Given the description of an element on the screen output the (x, y) to click on. 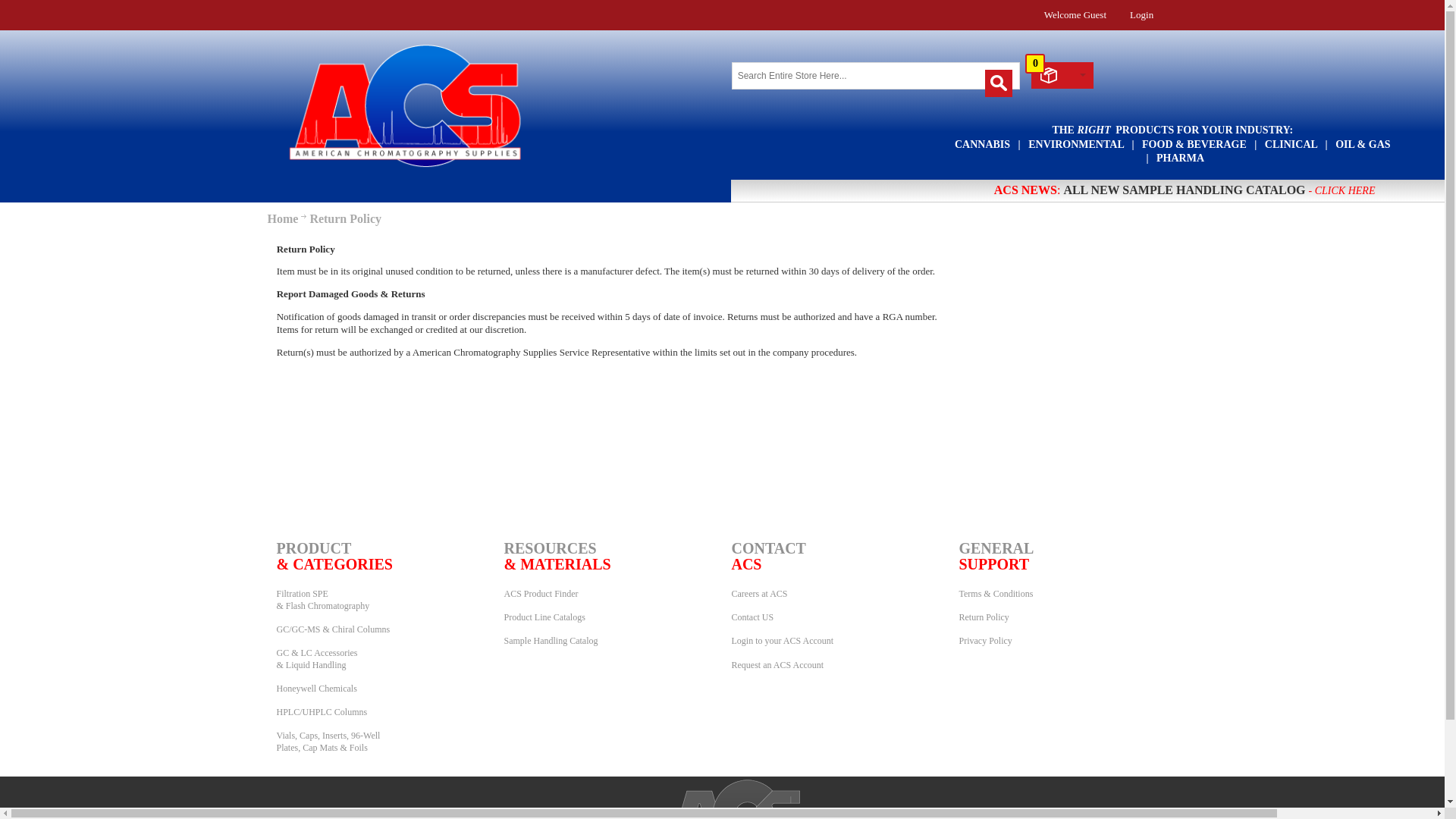
Check the items in your Cart (1061, 75)
CANNABIS (984, 143)
ENVIRONMENTAL (1076, 143)
  0 (1057, 75)
Search (998, 83)
Login (1141, 14)
Login (1141, 14)
PHARMA (1180, 157)
CLINICAL (1291, 143)
